Given the description of an element on the screen output the (x, y) to click on. 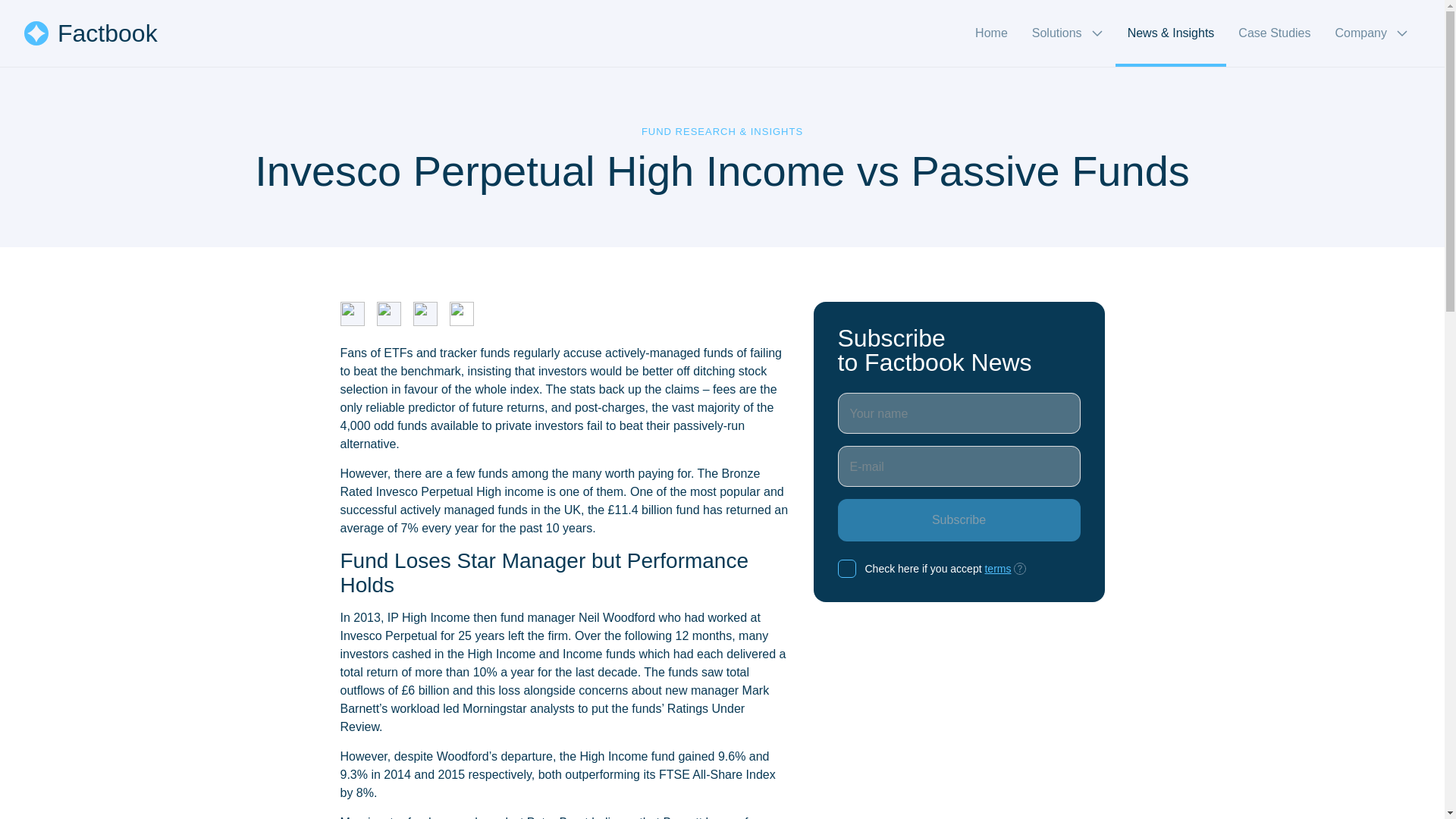
Subscribe (958, 519)
Factbook (90, 33)
Home (991, 33)
terms (997, 568)
Case Studies (1274, 33)
